Given the description of an element on the screen output the (x, y) to click on. 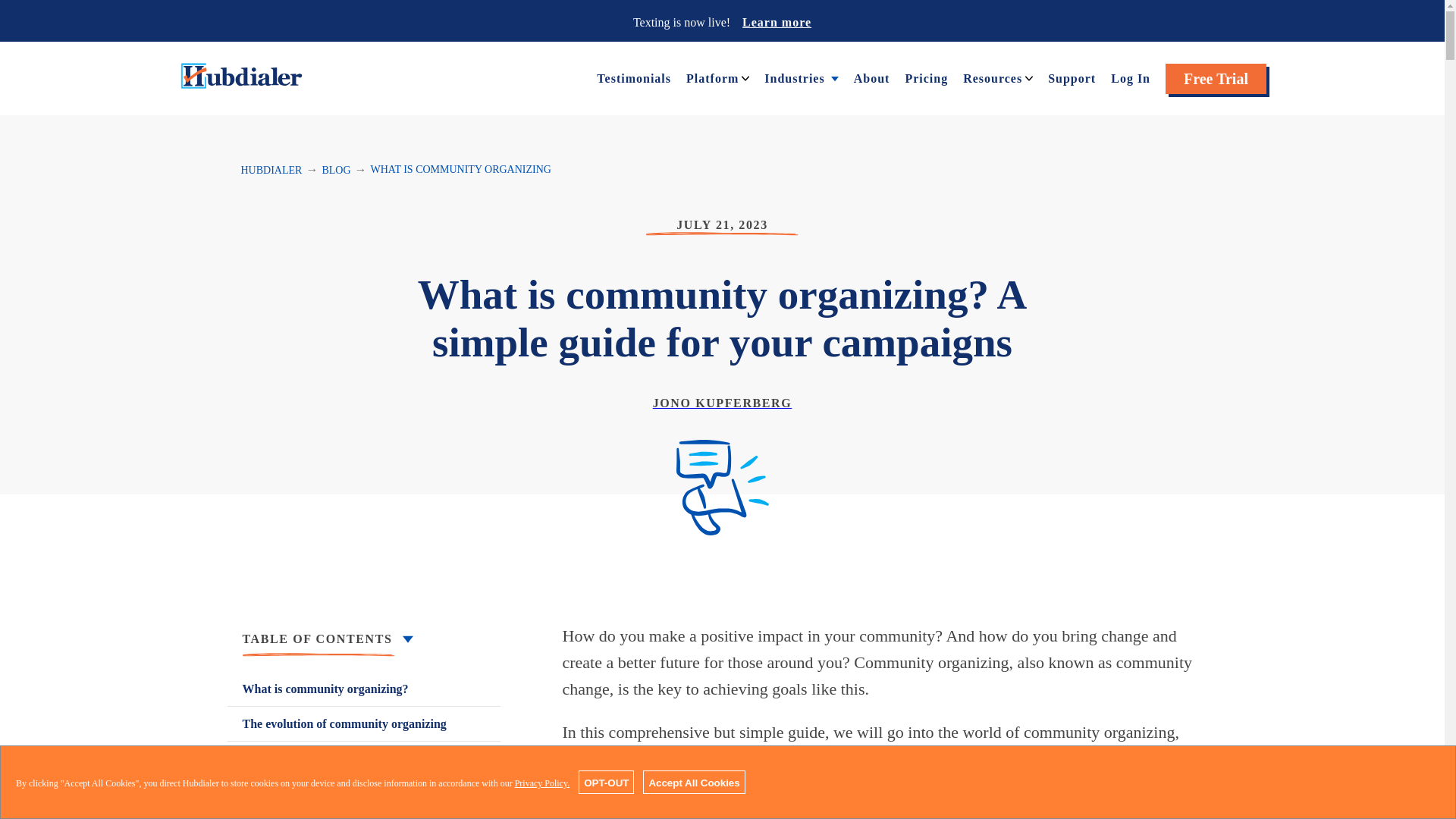
Testimonials (633, 77)
The evolution of community organizing (363, 723)
What is community organizing? (363, 688)
BLOG (335, 170)
Free Trial (1216, 78)
What is the first step in community organizing? (363, 768)
WHAT IS COMMUNITY ORGANIZING (461, 169)
Privacy Policy. (542, 783)
HUBDIALER (271, 170)
About (871, 77)
Pricing (925, 77)
Support (1072, 77)
Resources (992, 77)
Log In (1130, 77)
